Given the description of an element on the screen output the (x, y) to click on. 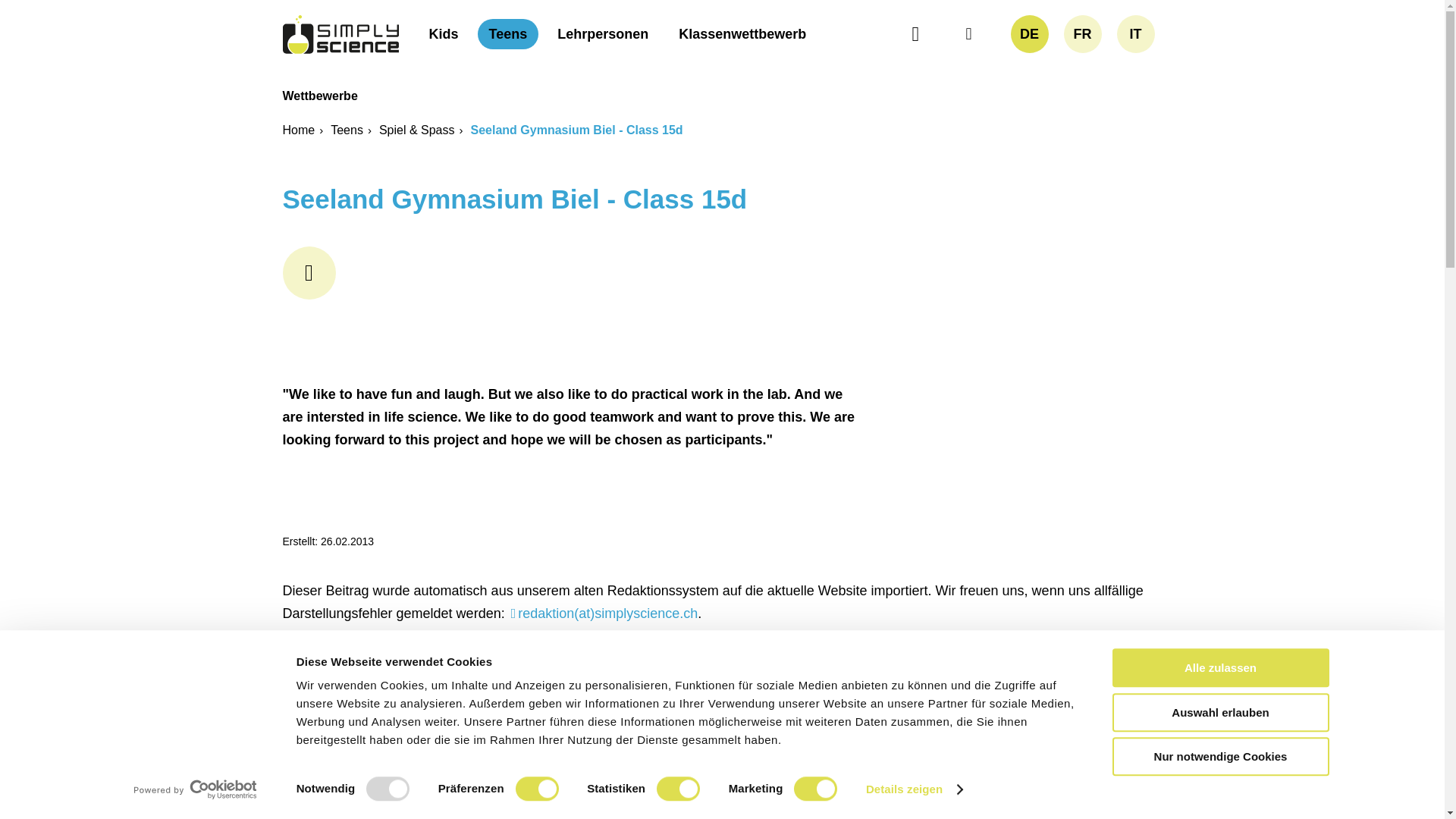
Details zeigen (914, 789)
Nur notwendige Cookies (1219, 756)
